Given the description of an element on the screen output the (x, y) to click on. 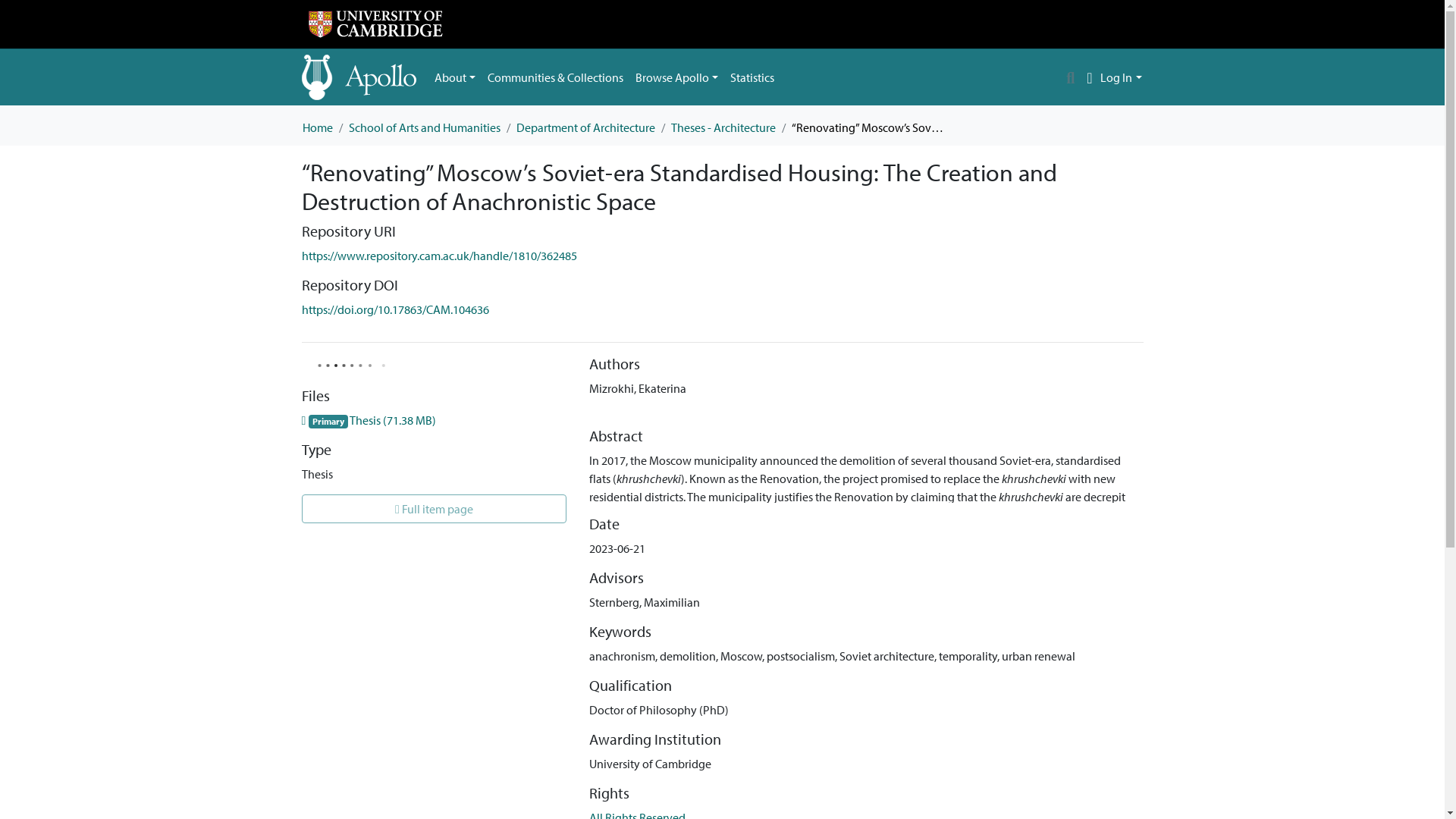
Log In (1120, 77)
Statistics (751, 77)
Language switch (1089, 76)
Theses - Architecture (721, 126)
Home (316, 126)
School of Arts and Humanities (424, 126)
Browse Apollo (675, 77)
All Rights Reserved (637, 814)
Department of Architecture (584, 126)
Full item page (434, 508)
